Given the description of an element on the screen output the (x, y) to click on. 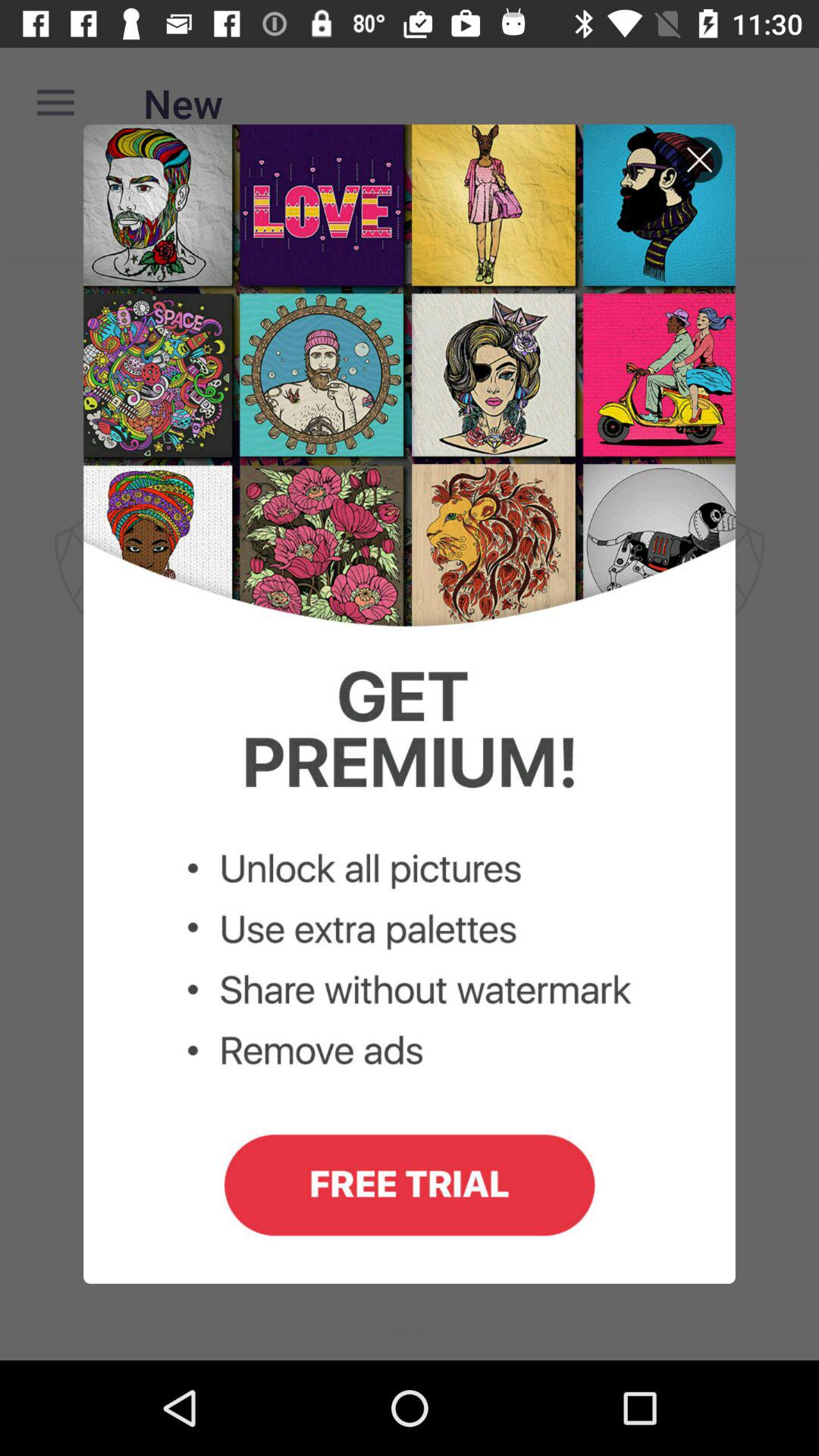
go to cancel button (699, 159)
